Given the description of an element on the screen output the (x, y) to click on. 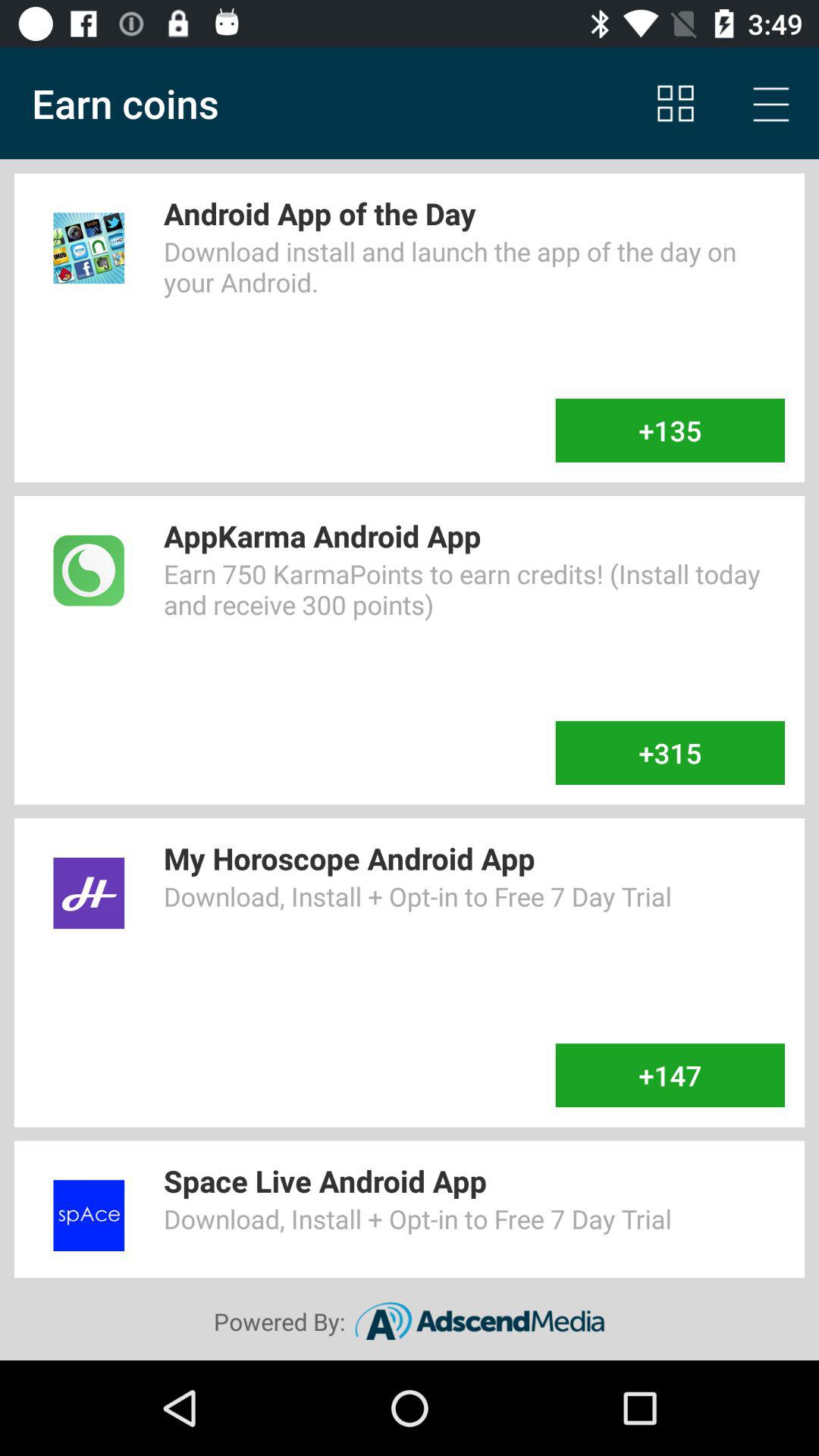
turn on +135 icon (669, 430)
